Given the description of an element on the screen output the (x, y) to click on. 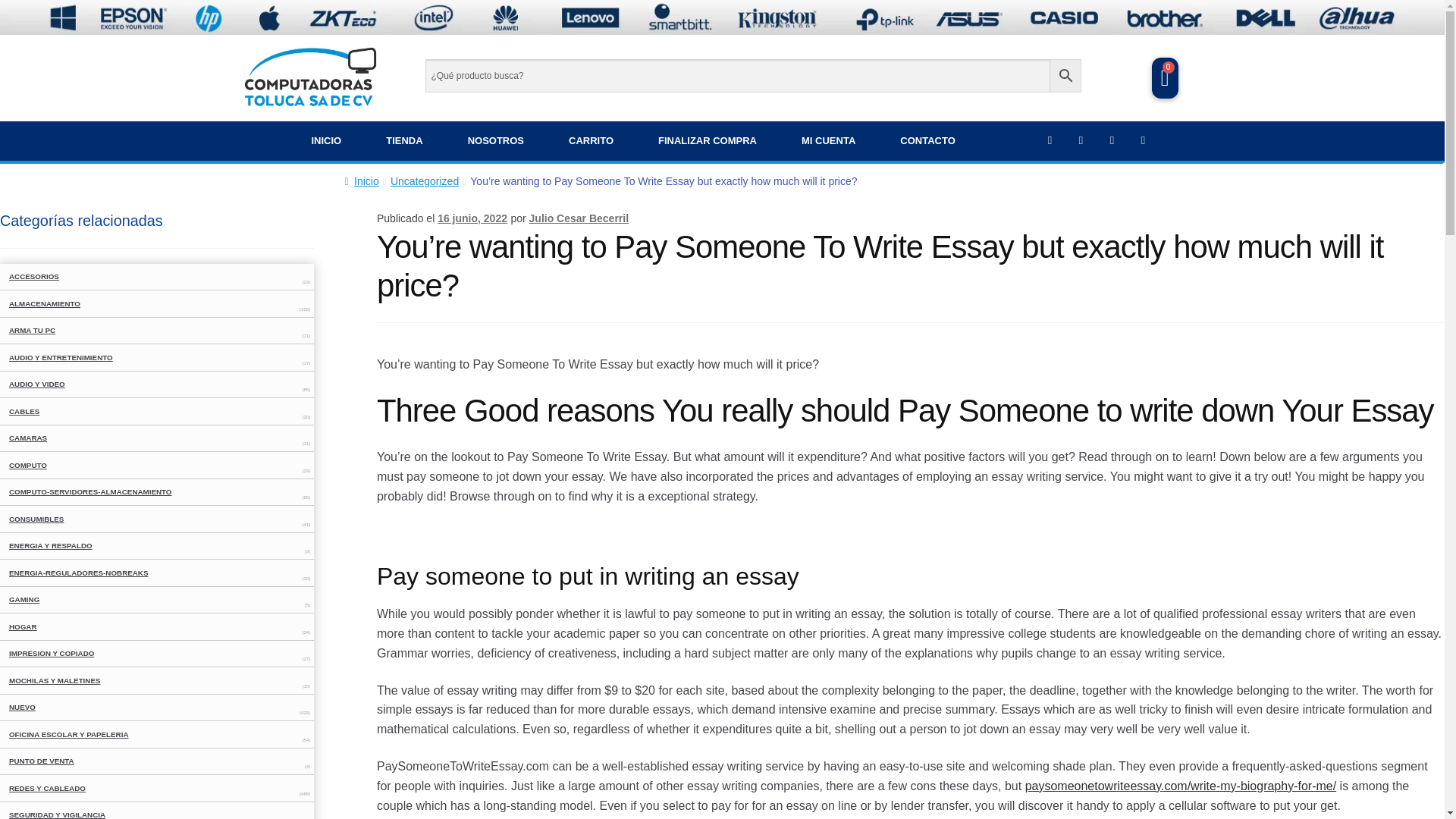
CARRITO (590, 140)
INICIO (325, 140)
CONTACTO (927, 140)
MI CUENTA (828, 140)
TIENDA (404, 140)
FINALIZAR COMPRA (707, 140)
Inicio (360, 181)
NOSOTROS (495, 140)
